Given the description of an element on the screen output the (x, y) to click on. 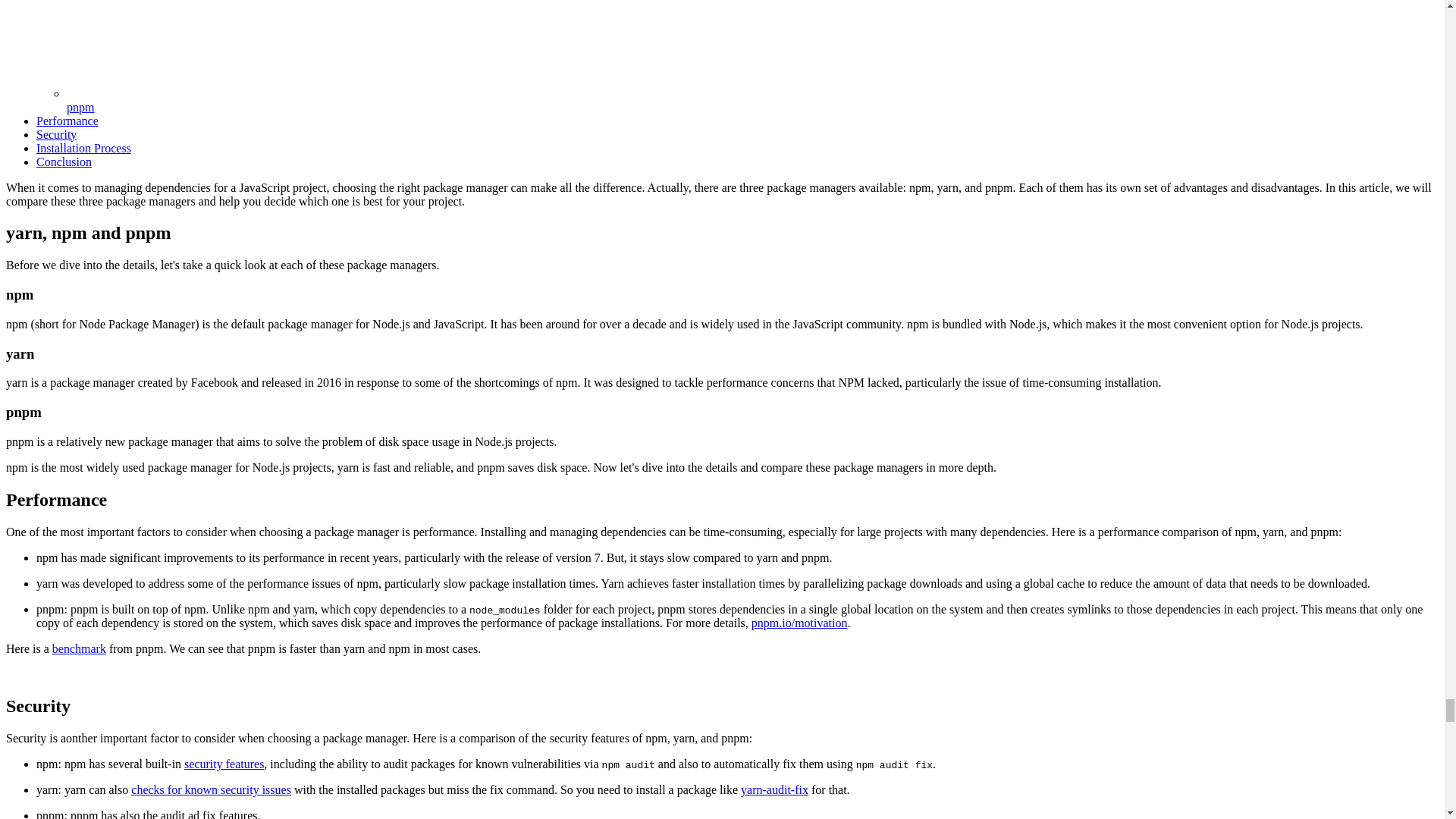
benchmark (79, 647)
checks for known security issues (211, 789)
yarn-audit-fix (774, 789)
security features (223, 763)
